Given the description of an element on the screen output the (x, y) to click on. 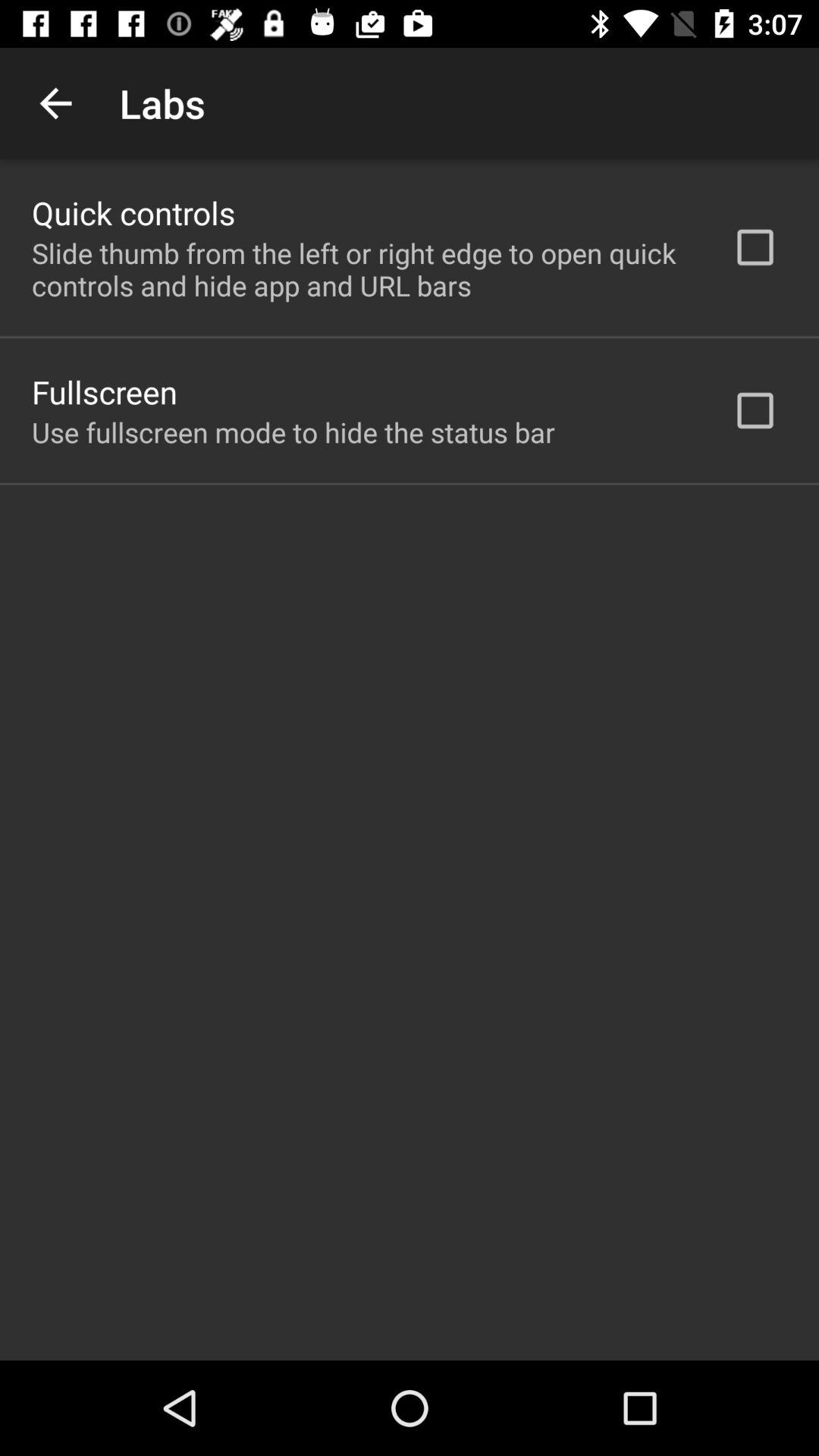
tap app below fullscreen item (293, 432)
